Given the description of an element on the screen output the (x, y) to click on. 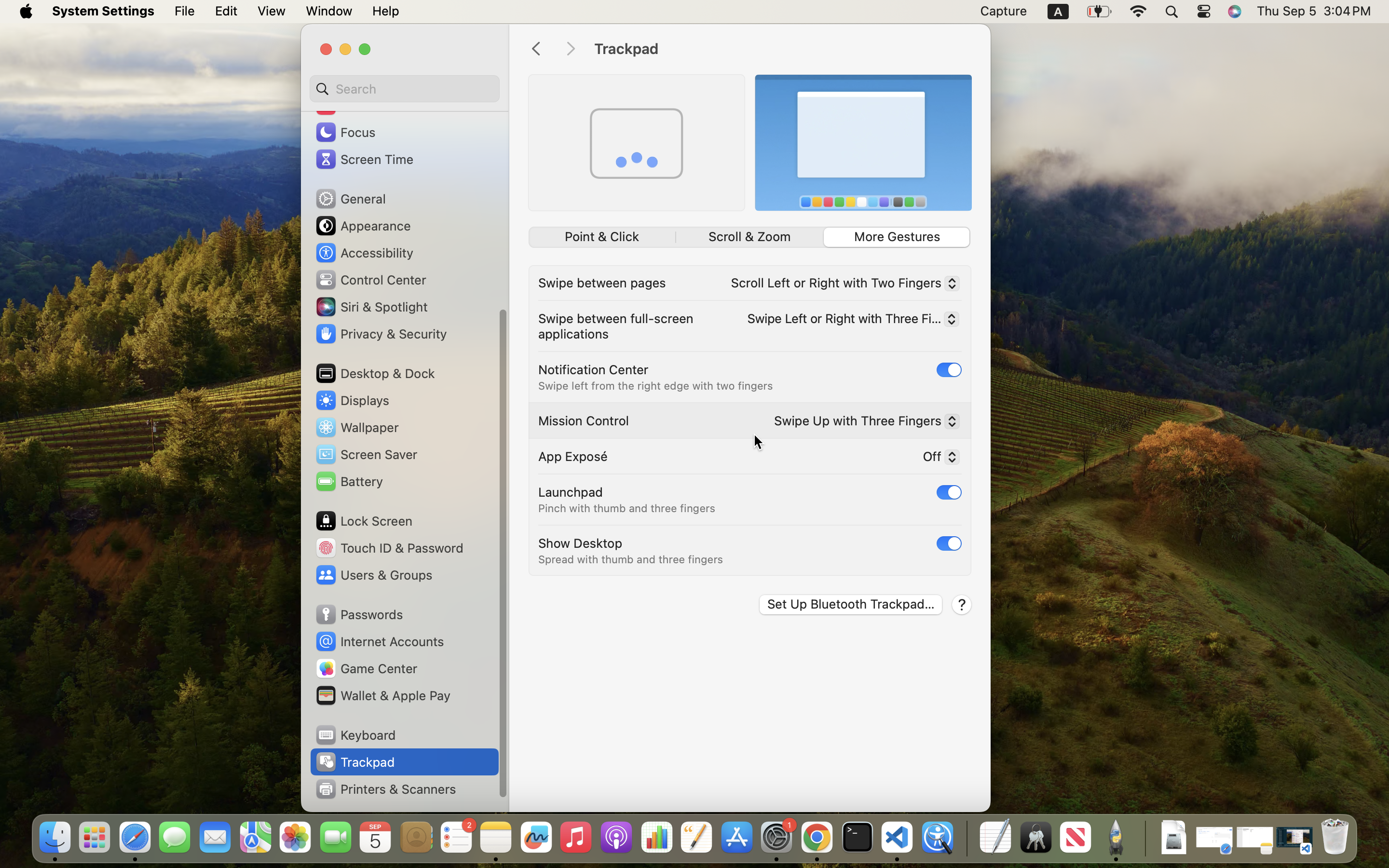
Swipe between full-screen applications Element type: AXStaticText (617, 325)
Displays Element type: AXStaticText (351, 399)
Siri & Spotlight Element type: AXStaticText (370, 306)
Swipe Up with Three Fingers Element type: AXPopUpButton (862, 422)
